Given the description of an element on the screen output the (x, y) to click on. 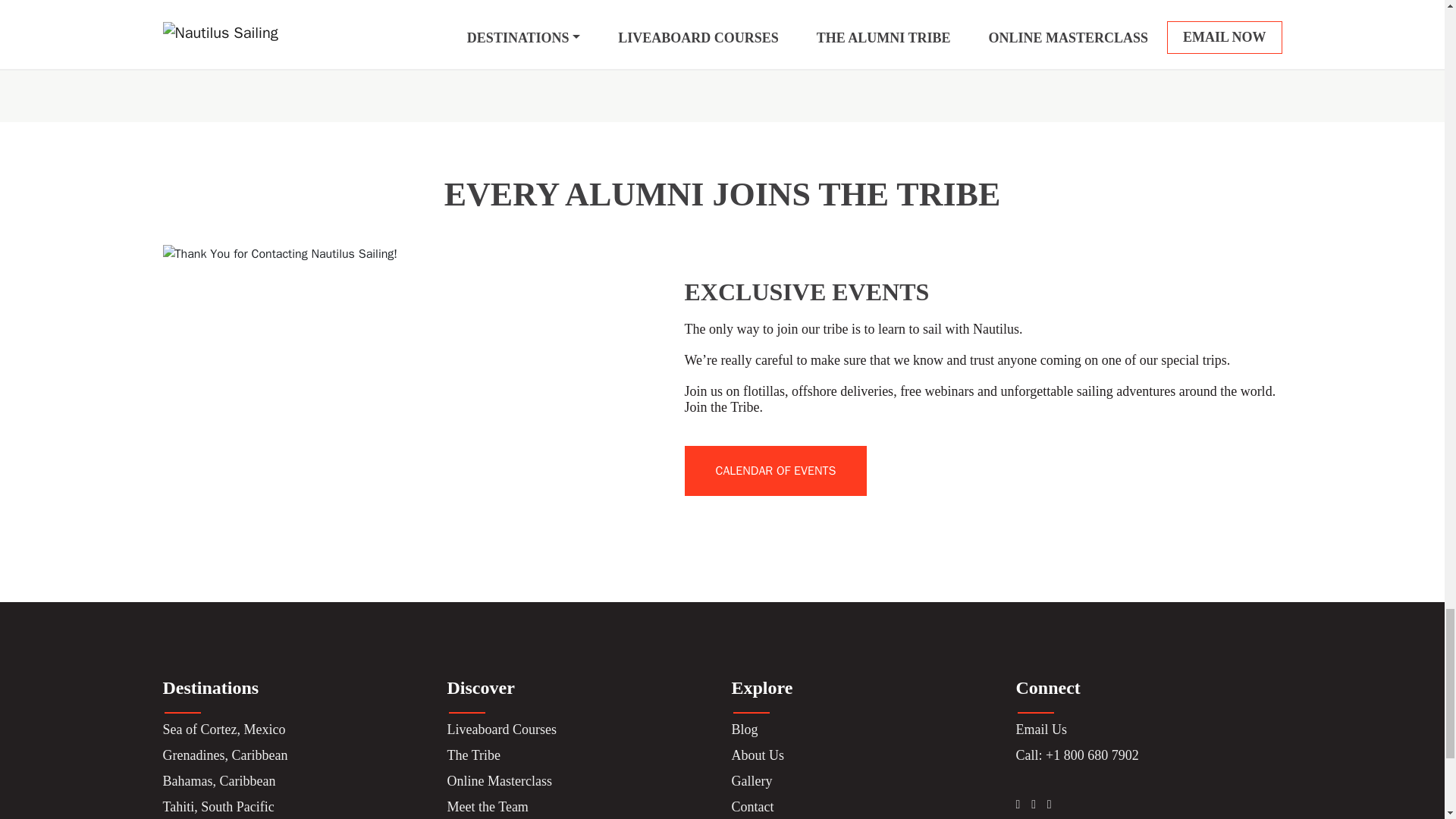
SEND US AN EMAIL (624, 45)
Sea of Cortez, Mexico (223, 729)
The Tribe (473, 754)
About Us (757, 754)
Online Masterclass (498, 780)
Tahiti, South Pacific (217, 806)
Blog (743, 729)
Gallery (750, 780)
CALENDAR OF EVENTS (775, 470)
Email Us (1041, 729)
Contact (751, 806)
Meet the Team (487, 806)
Liveaboard Courses (501, 729)
Grenadines, Caribbean (223, 754)
Bahamas, Caribbean (218, 780)
